Given the description of an element on the screen output the (x, y) to click on. 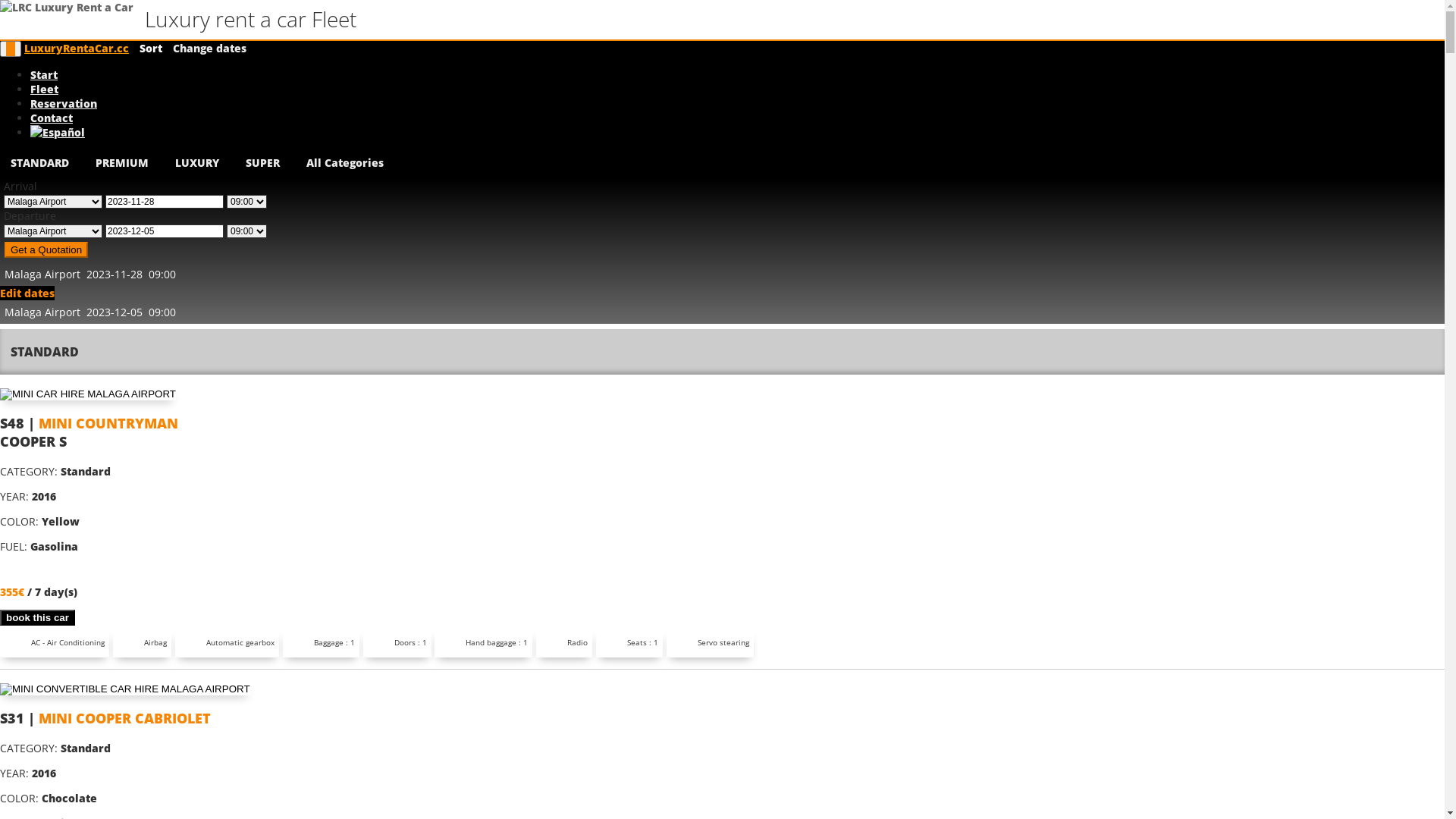
Sort Element type: text (150, 47)
Edit dates Element type: text (27, 292)
LUXURY Element type: text (196, 162)
Change dates Element type: text (209, 47)
Contact Element type: text (51, 117)
SUPER Element type: text (262, 162)
All Categories Element type: text (344, 162)
Reservation Element type: text (63, 103)
PREMIUM Element type: text (121, 162)
Get a Quotation Element type: text (45, 249)
Fleet Element type: text (44, 88)
Start Element type: text (43, 74)
LuxuryRentaCar.cc Element type: text (76, 47)
STANDARD Element type: text (39, 162)
book this car Element type: text (37, 617)
